Given the description of an element on the screen output the (x, y) to click on. 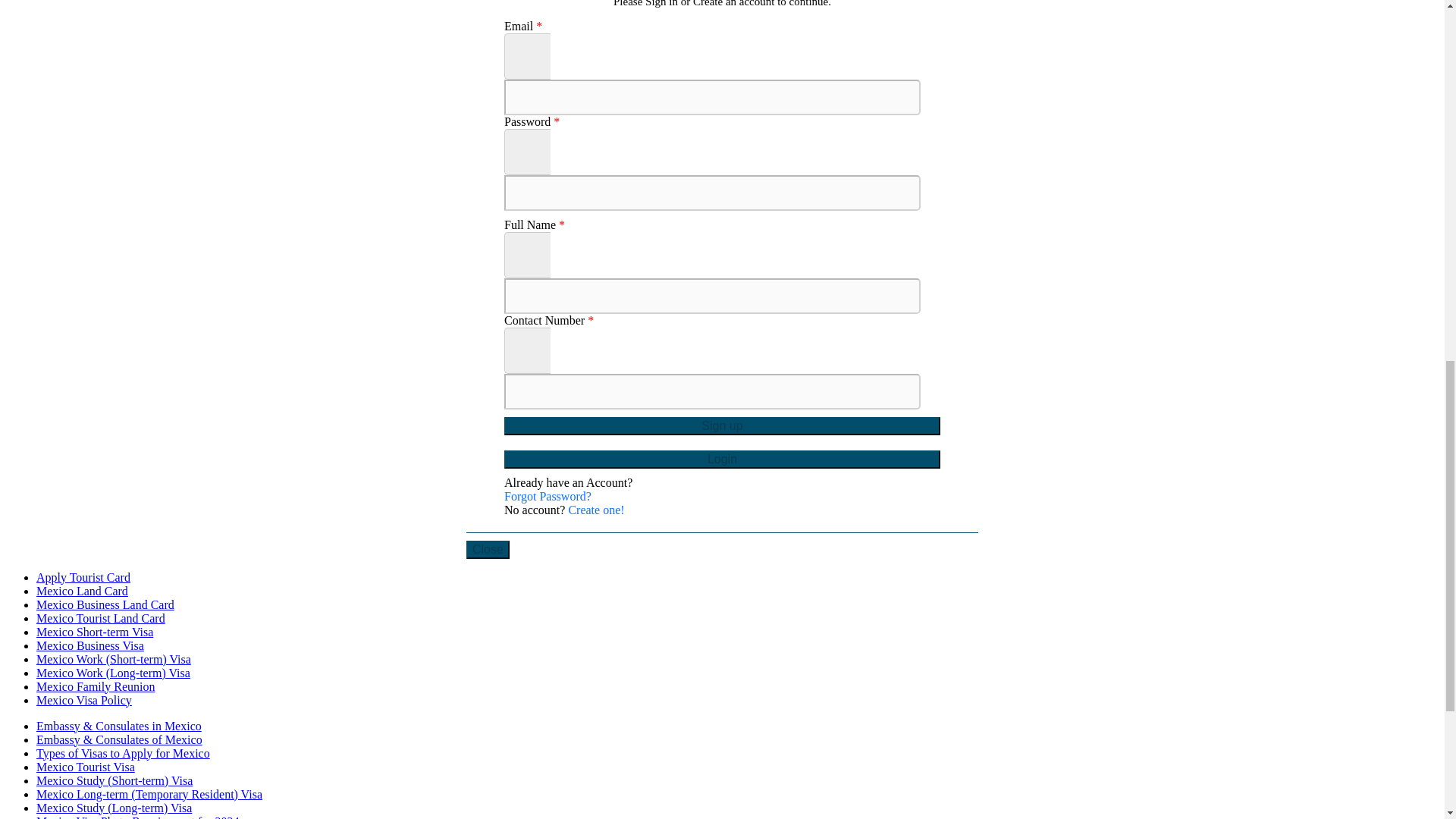
Mexico Tourist Visa (85, 766)
Sign up (721, 425)
Mexico Family Reunion (95, 686)
Apply Tourist Card (83, 576)
Mexico Tourist Land Card (100, 617)
Types of Visas to Apply for Mexico (122, 753)
Mexico Land Card (82, 590)
Close (487, 549)
Mexico Business Land Card (105, 604)
Mexico Tourist Visa (85, 766)
Mexico Visa Photo Requirement for 2024 (138, 816)
Mexico Short-term Visa (94, 631)
Mexico Business Land Card (105, 604)
Mexico Visa Policy (84, 699)
Apply Tourist Card (83, 576)
